Given the description of an element on the screen output the (x, y) to click on. 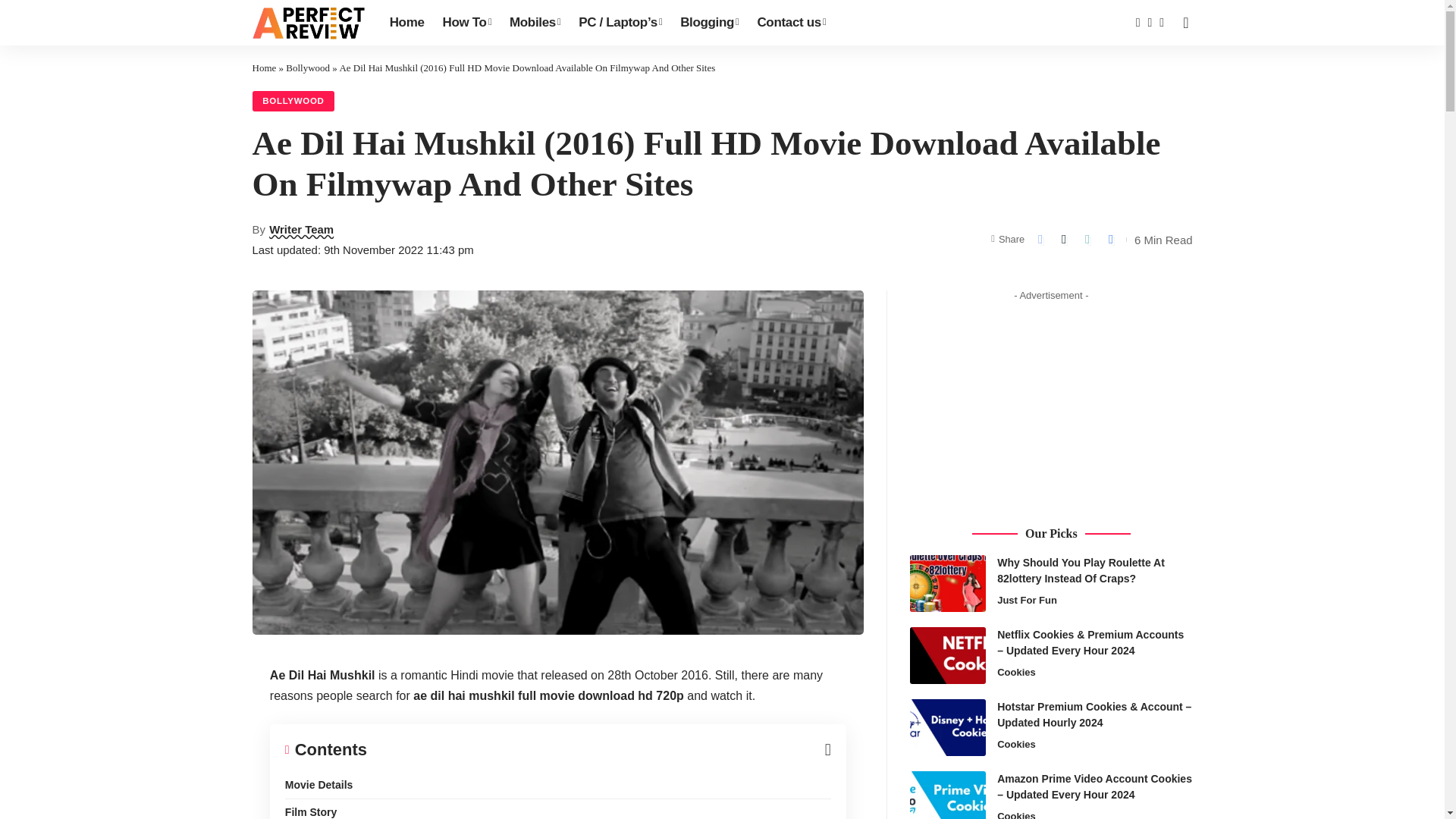
A Perfect Review (308, 22)
Mobiles (534, 22)
How To (466, 22)
Home (406, 22)
Blogging (709, 22)
